Given the description of an element on the screen output the (x, y) to click on. 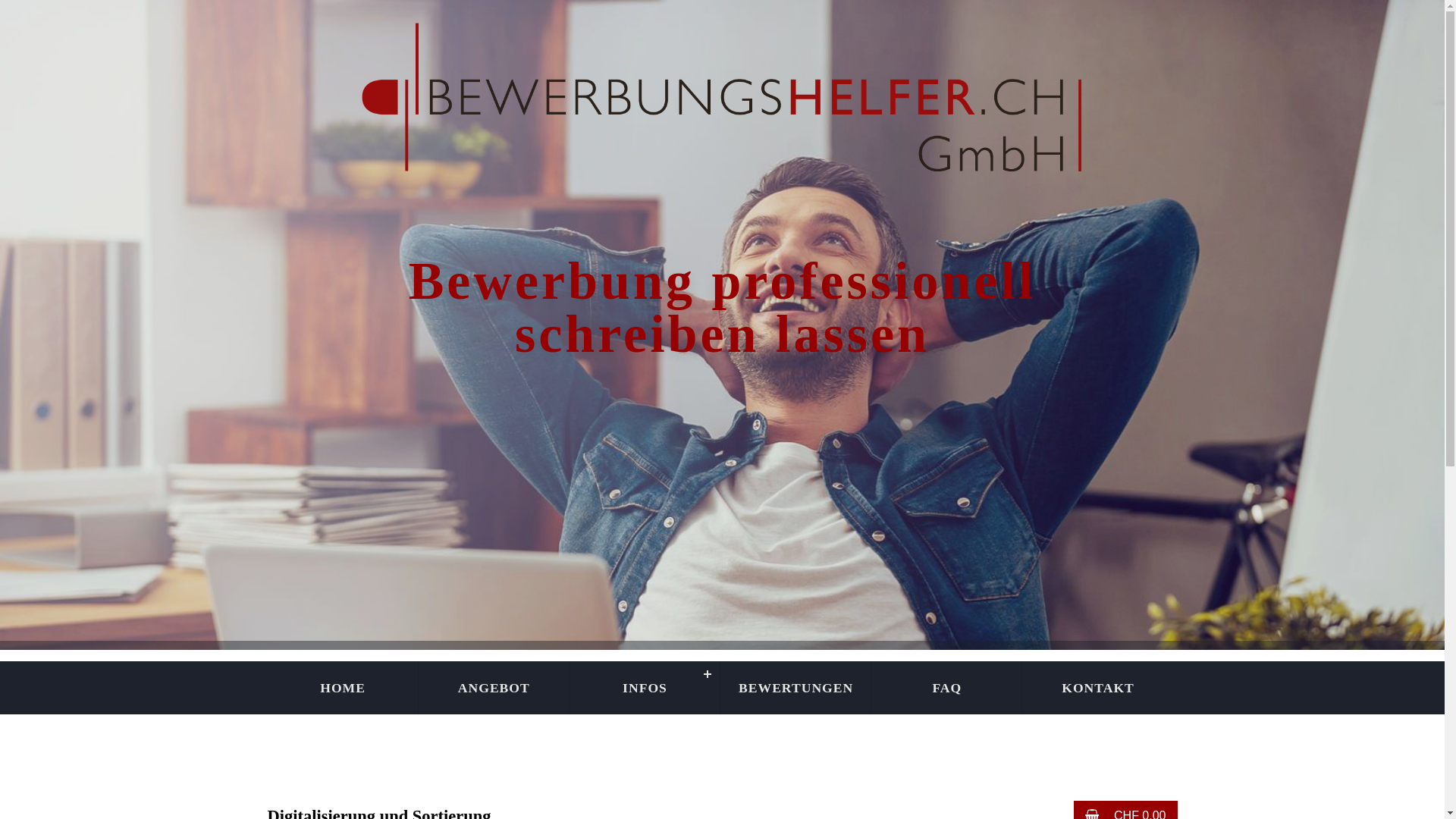
HOME Element type: text (341, 687)
INFOS Element type: text (644, 687)
KONTAKT Element type: text (1097, 687)
BEWERTUNGEN Element type: text (795, 687)
ANGEBOT Element type: text (493, 687)
FAQ Element type: text (946, 687)
